Given the description of an element on the screen output the (x, y) to click on. 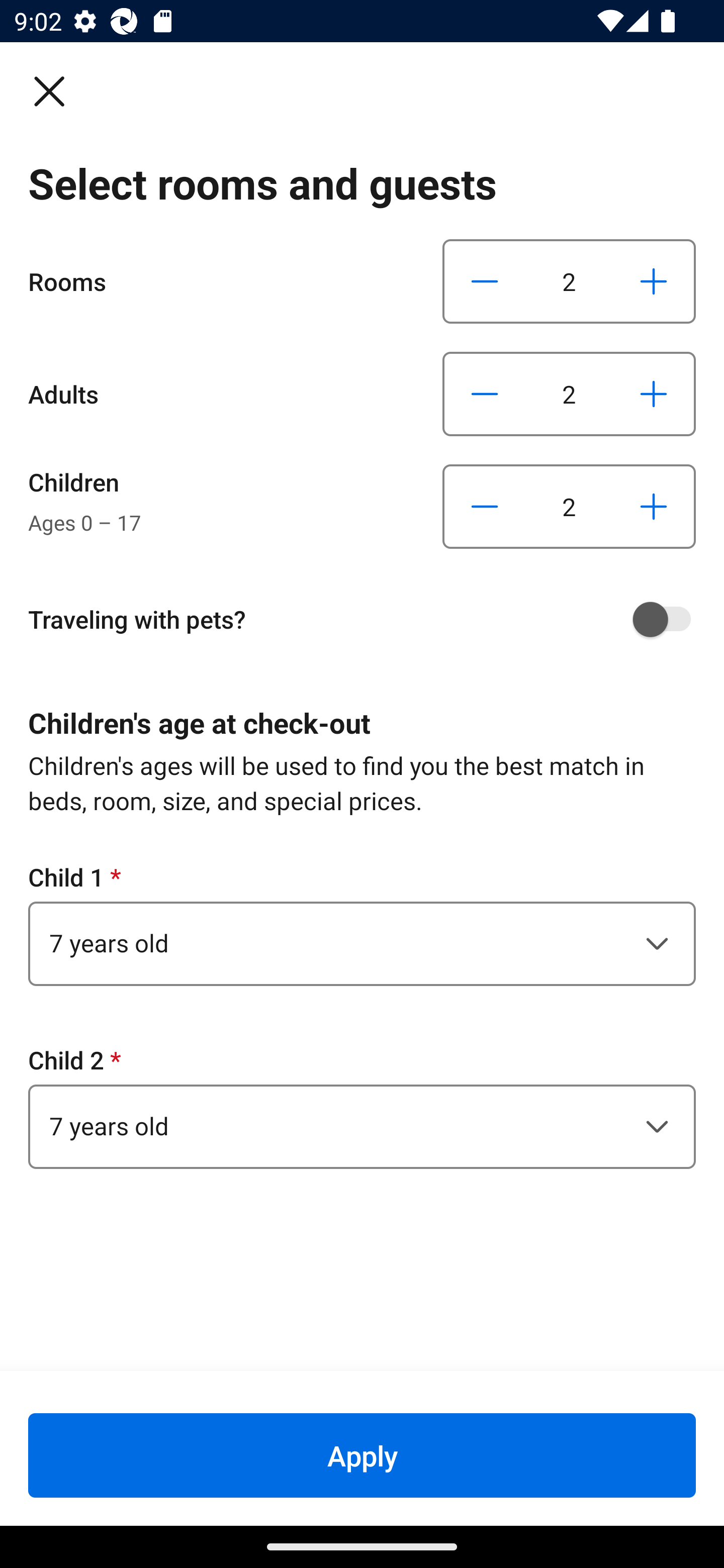
Decrease (484, 281)
Increase (653, 281)
Decrease (484, 393)
Increase (653, 393)
Decrease (484, 506)
Increase (653, 506)
Traveling with pets? (369, 619)
Child 1
required Child 1 * 7 years old (361, 922)
Child 2
required Child 2 * 7 years old (361, 1105)
Apply (361, 1454)
